Given the description of an element on the screen output the (x, y) to click on. 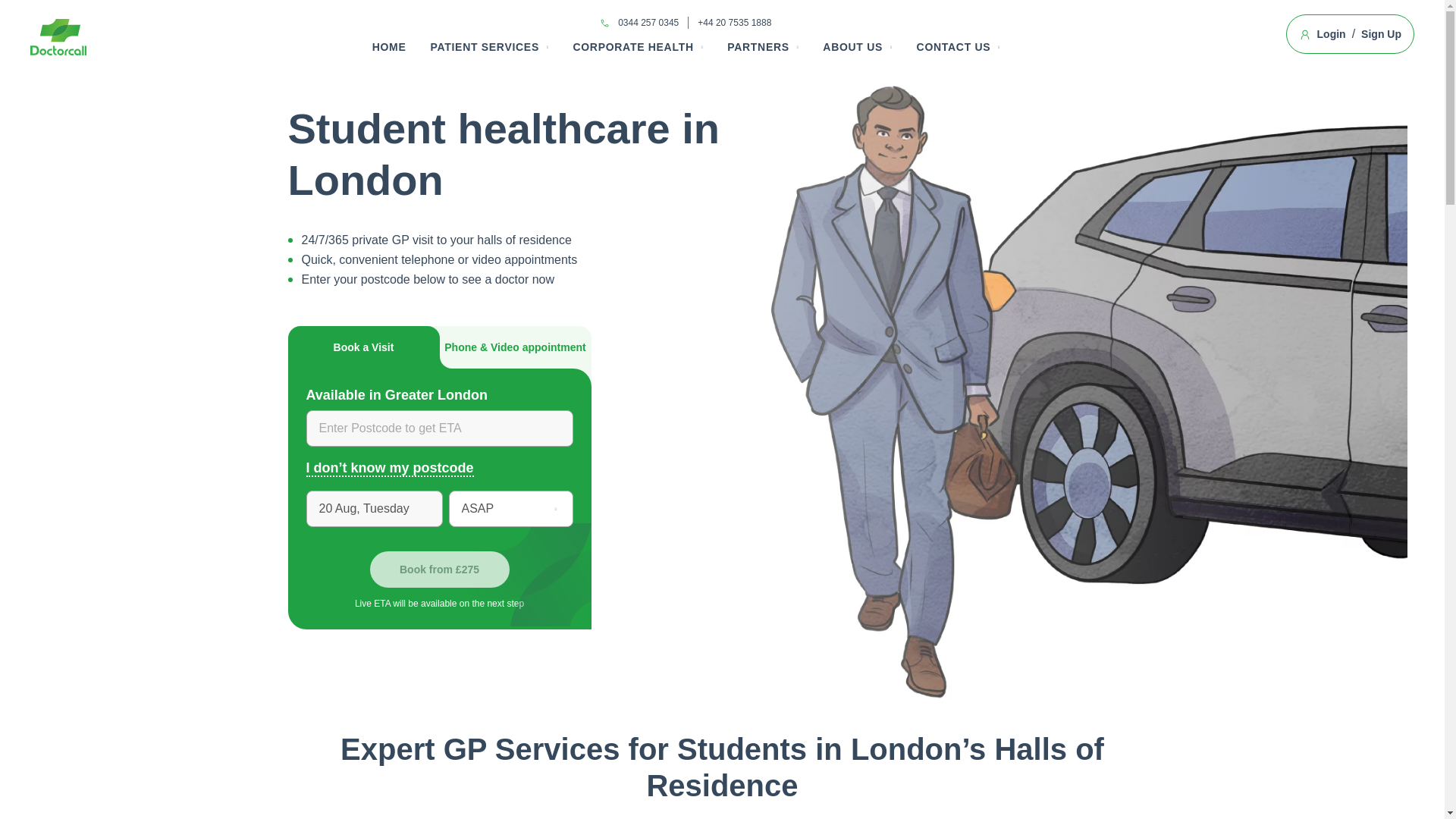
CORPORATE HEALTH (632, 47)
20 Aug, Tuesday (373, 508)
Login (1331, 33)
0344 257 0345 (647, 22)
PARTNERS (757, 47)
ABOUT US (852, 47)
CONTACT US (954, 47)
PATIENT SERVICES (483, 47)
ASAP (510, 508)
HOME (389, 47)
